Given the description of an element on the screen output the (x, y) to click on. 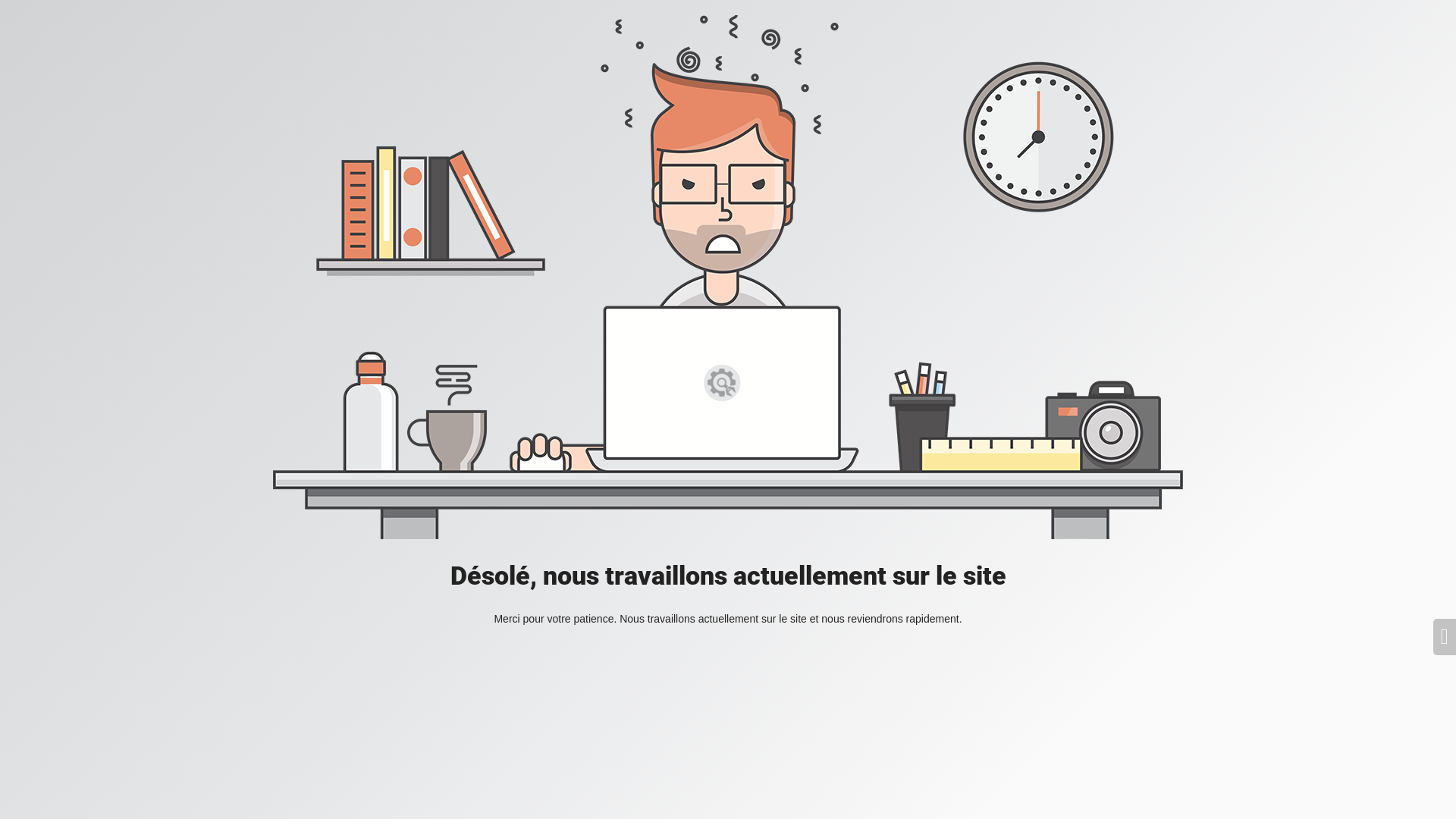
Mad Designer at work Element type: hover (728, 277)
